Given the description of an element on the screen output the (x, y) to click on. 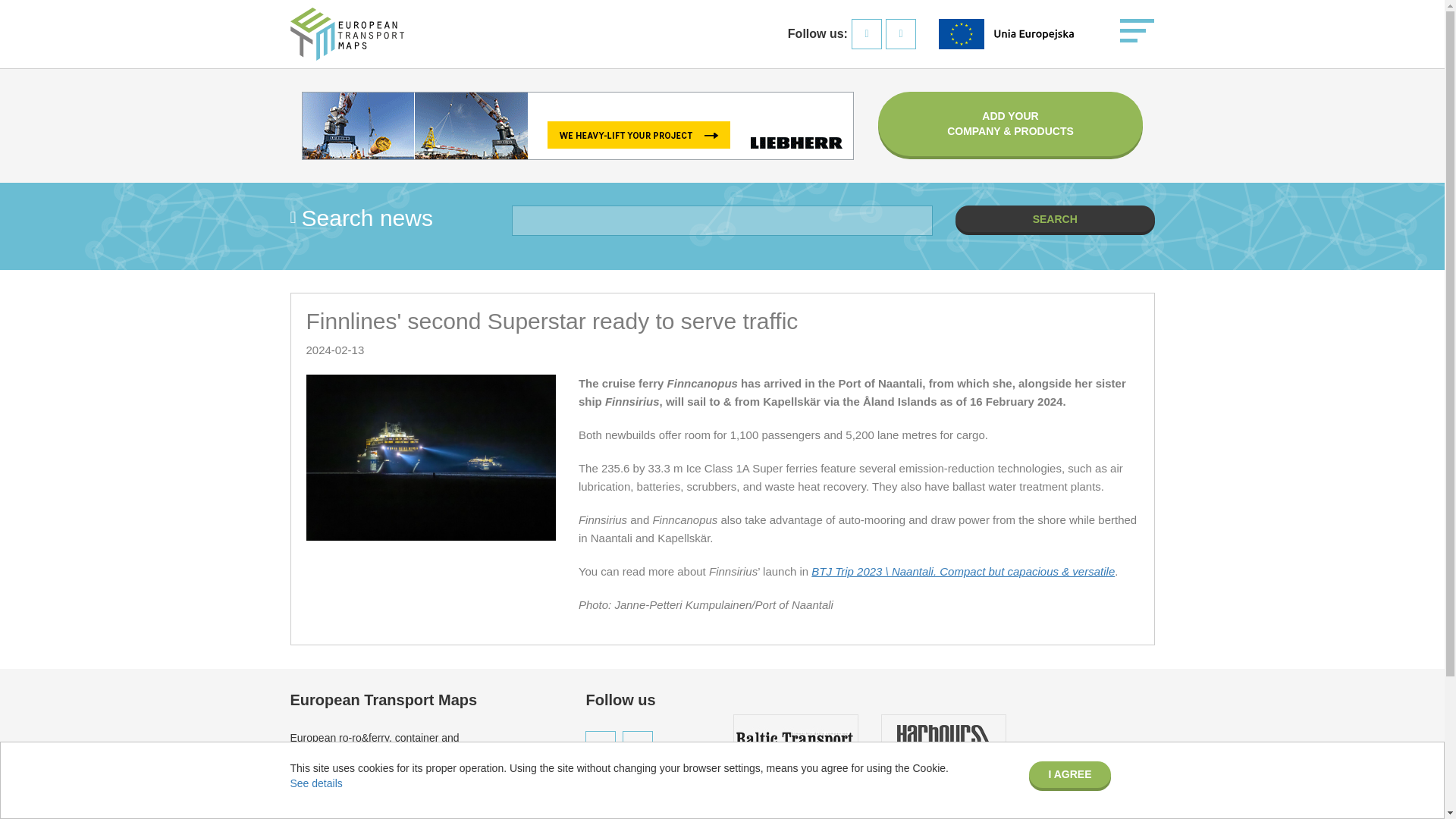
See details (315, 783)
I AGREE (1069, 774)
SEARCH (1054, 218)
